Given the description of an element on the screen output the (x, y) to click on. 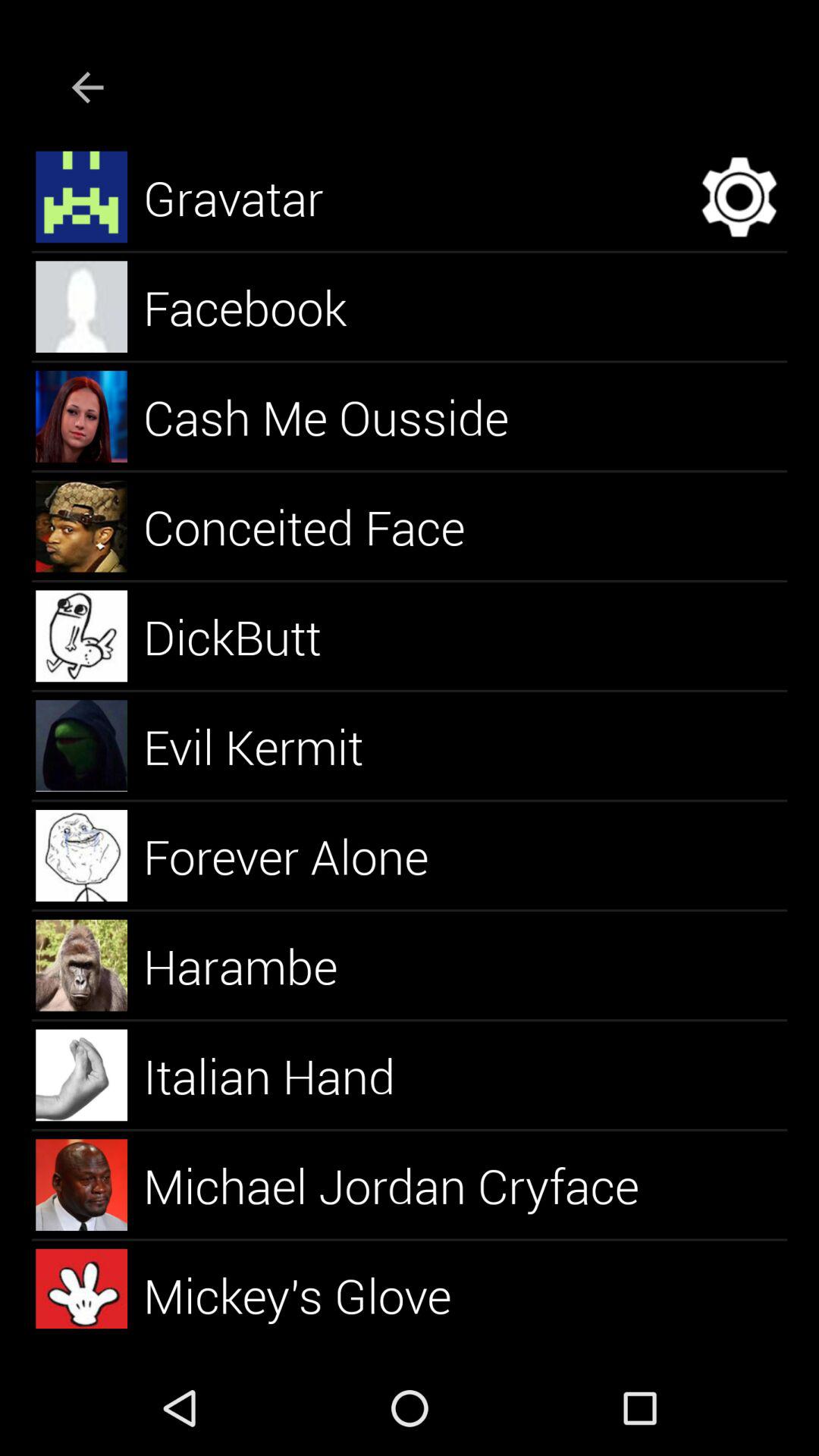
flip to facebook icon (262, 306)
